Given the description of an element on the screen output the (x, y) to click on. 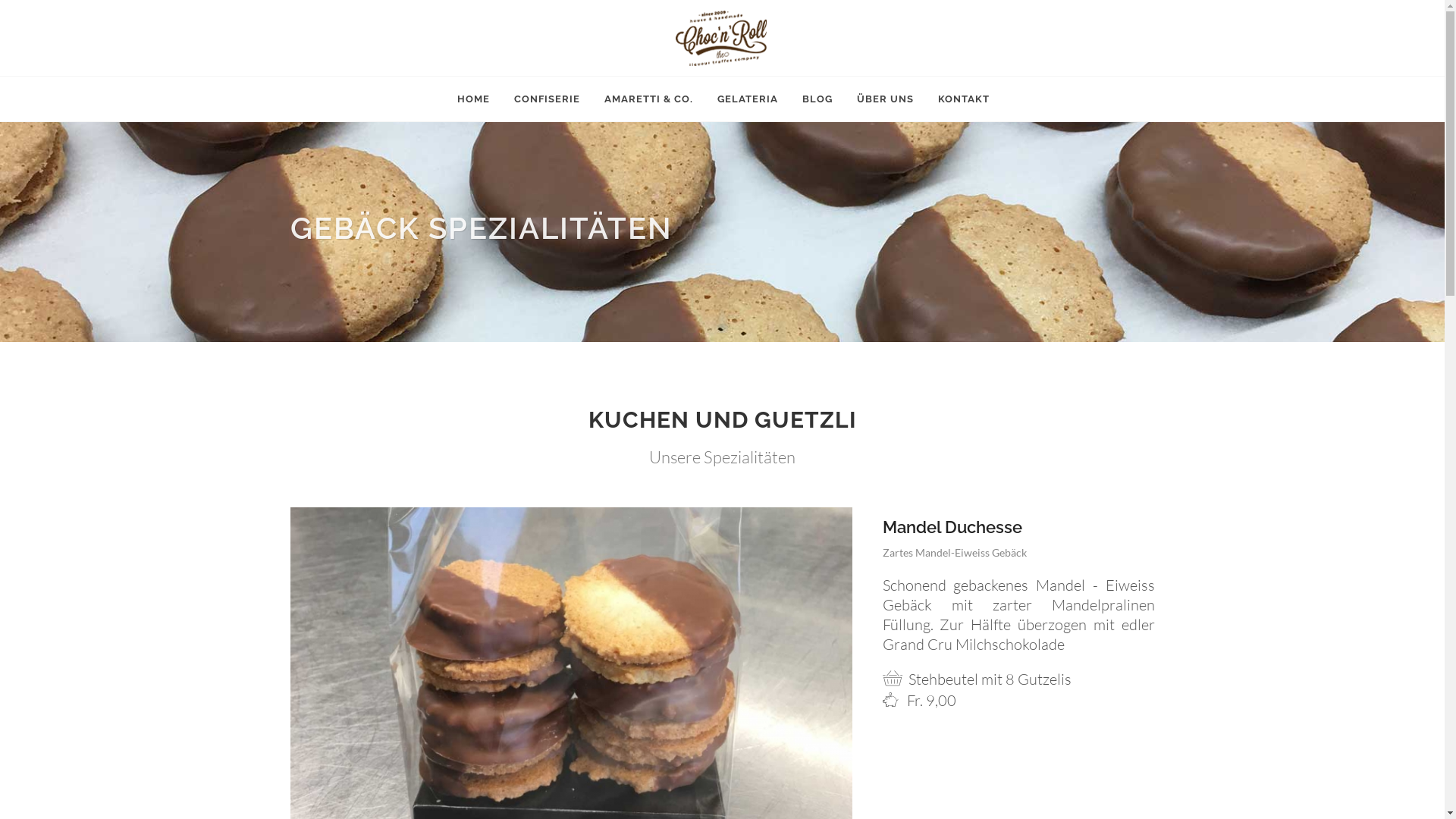
KONTAKT Element type: text (963, 99)
BLOG Element type: text (816, 99)
HOME Element type: text (473, 99)
AMARETTI & CO. Element type: text (648, 99)
GELATERIA Element type: text (746, 99)
CONFISERIE Element type: text (546, 99)
Mandel Duchesse Element type: text (952, 526)
